Given the description of an element on the screen output the (x, y) to click on. 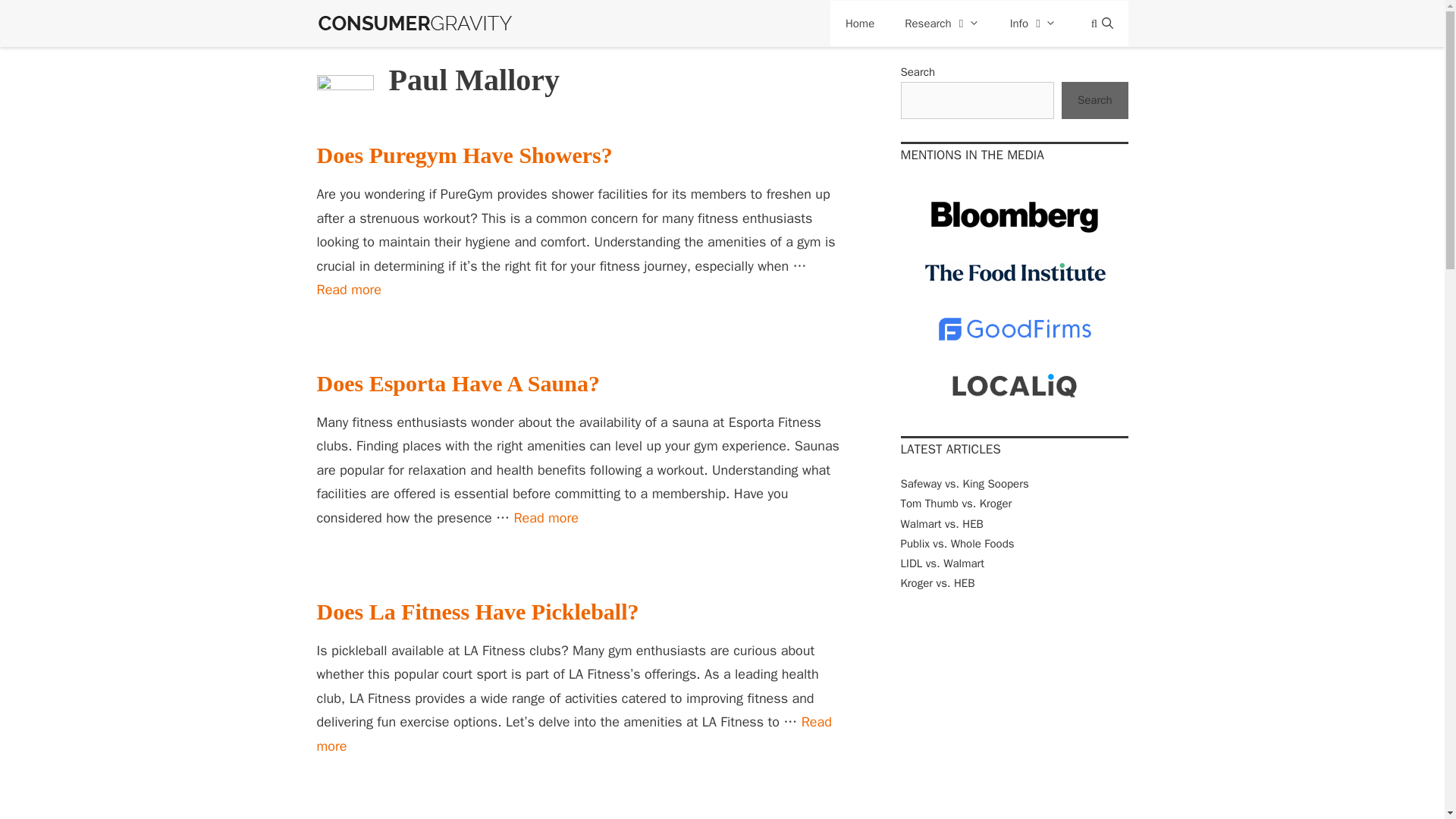
Does La Fitness Have Pickleball? (574, 733)
Does Esporta Have A Sauna? (545, 517)
Search (1098, 22)
Info (545, 517)
ConsumerGravity (1032, 22)
Does La Fitness Have Pickleball? (415, 16)
ConsumerGravity (478, 611)
Does Puregym Have Showers? (415, 15)
Search (349, 289)
Research (349, 289)
Does Esporta Have A Sauna? (1098, 22)
Search (574, 733)
